Given the description of an element on the screen output the (x, y) to click on. 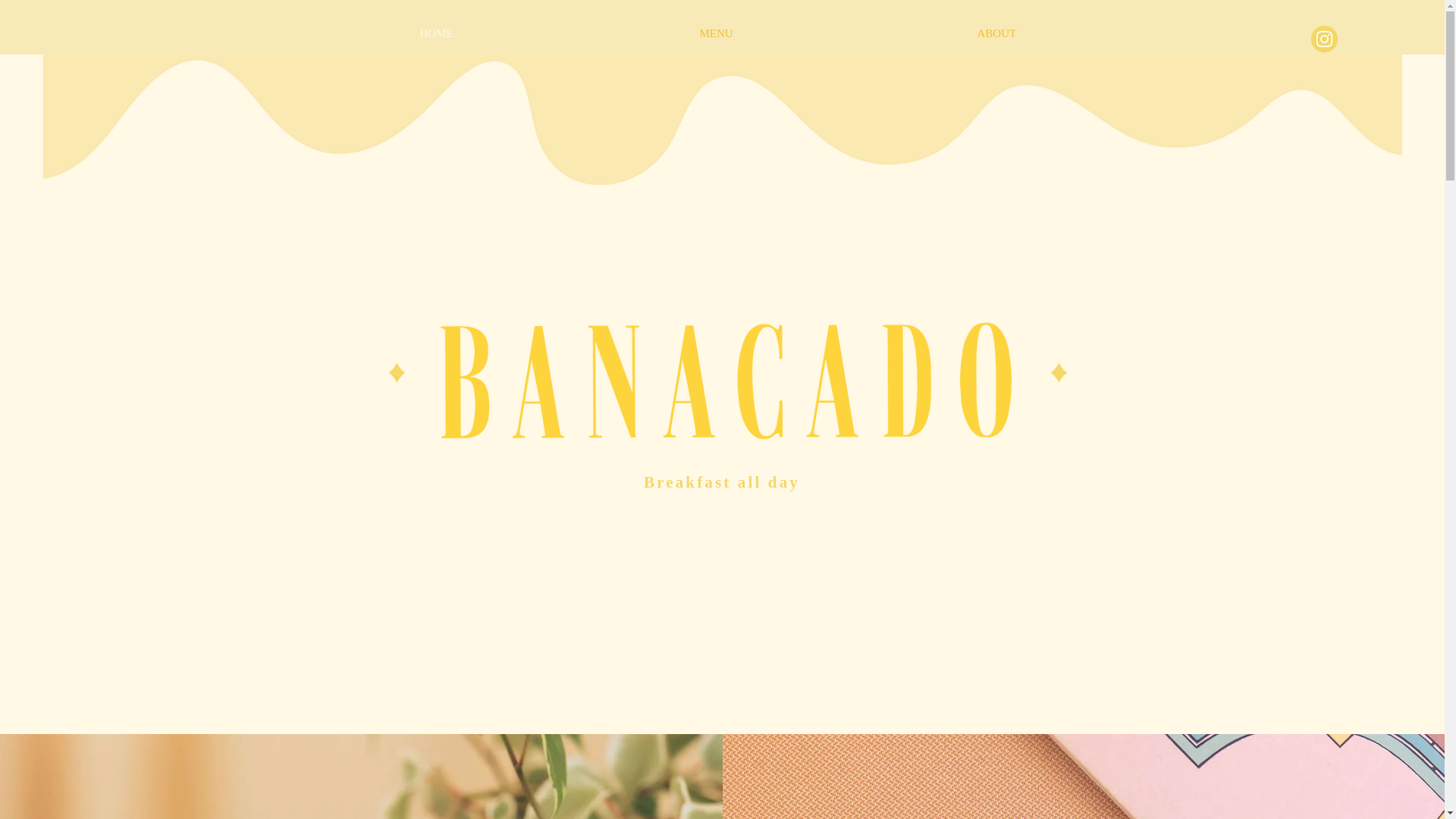
ABOUT (1108, 32)
MENU (827, 32)
HOME (547, 32)
